Given the description of an element on the screen output the (x, y) to click on. 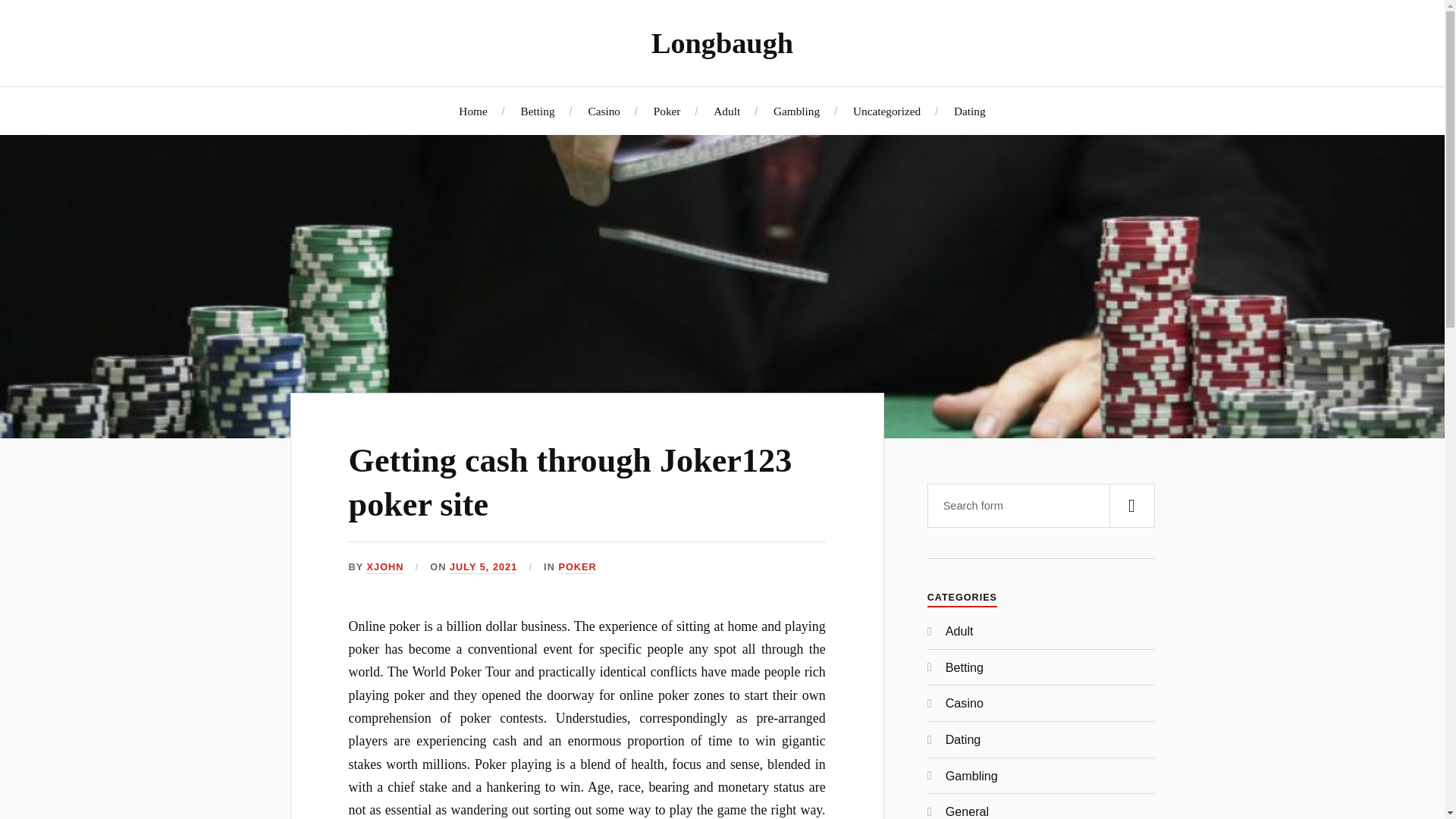
JULY 5, 2021 (482, 567)
XJOHN (385, 567)
Gambling (970, 775)
Adult (959, 631)
General (966, 811)
Gambling (796, 110)
POKER (576, 567)
Dating (962, 739)
Casino (964, 703)
Uncategorized (886, 110)
